Given the description of an element on the screen output the (x, y) to click on. 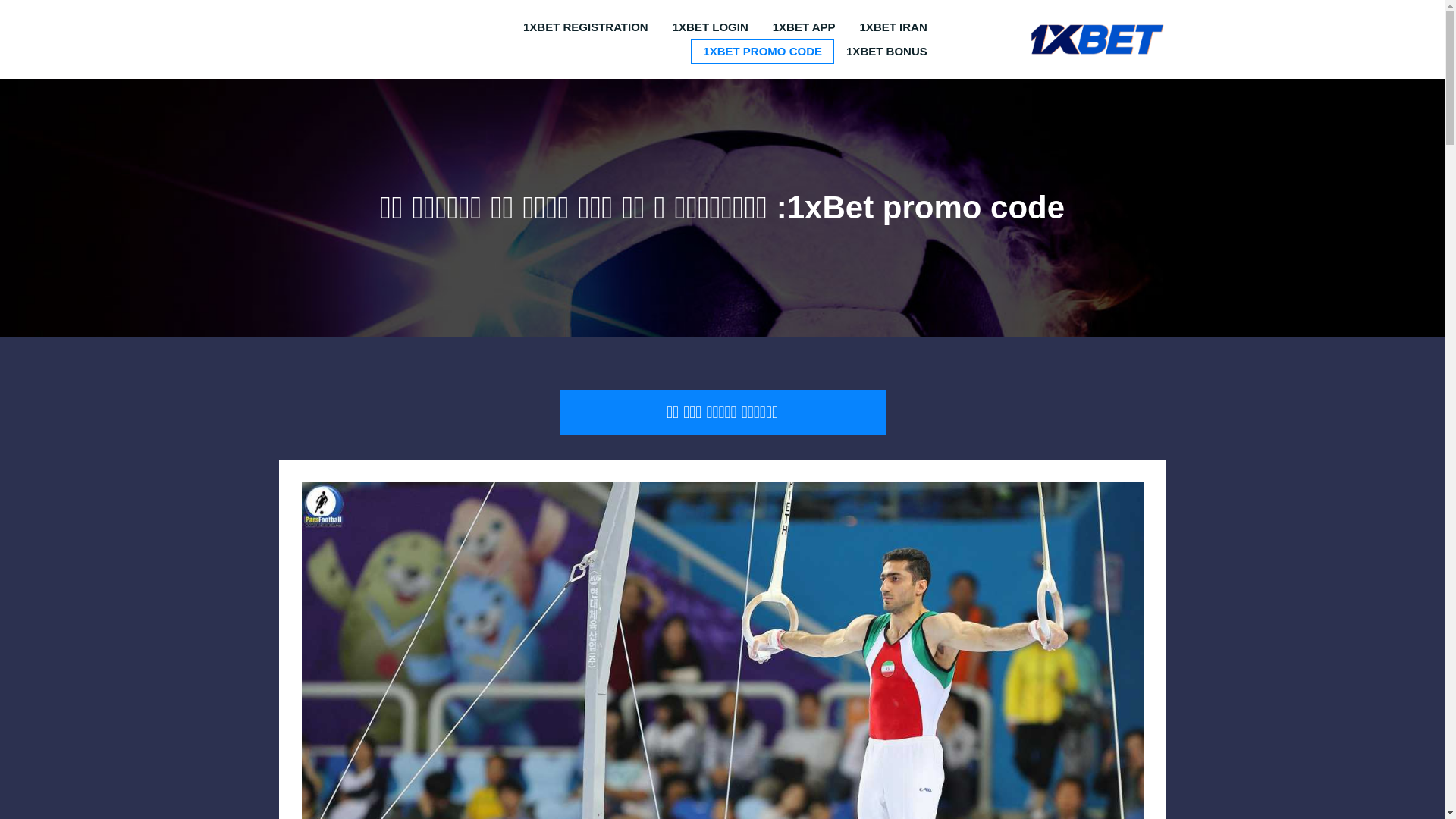
1XBET REGISTRATION Element type: text (585, 26)
1XBET APP Element type: text (804, 26)
1XBET BONUS Element type: text (886, 51)
1XBET IRAN Element type: text (893, 26)
1XBET LOGIN Element type: text (710, 26)
1XBET PROMO CODE Element type: text (762, 51)
